Given the description of an element on the screen output the (x, y) to click on. 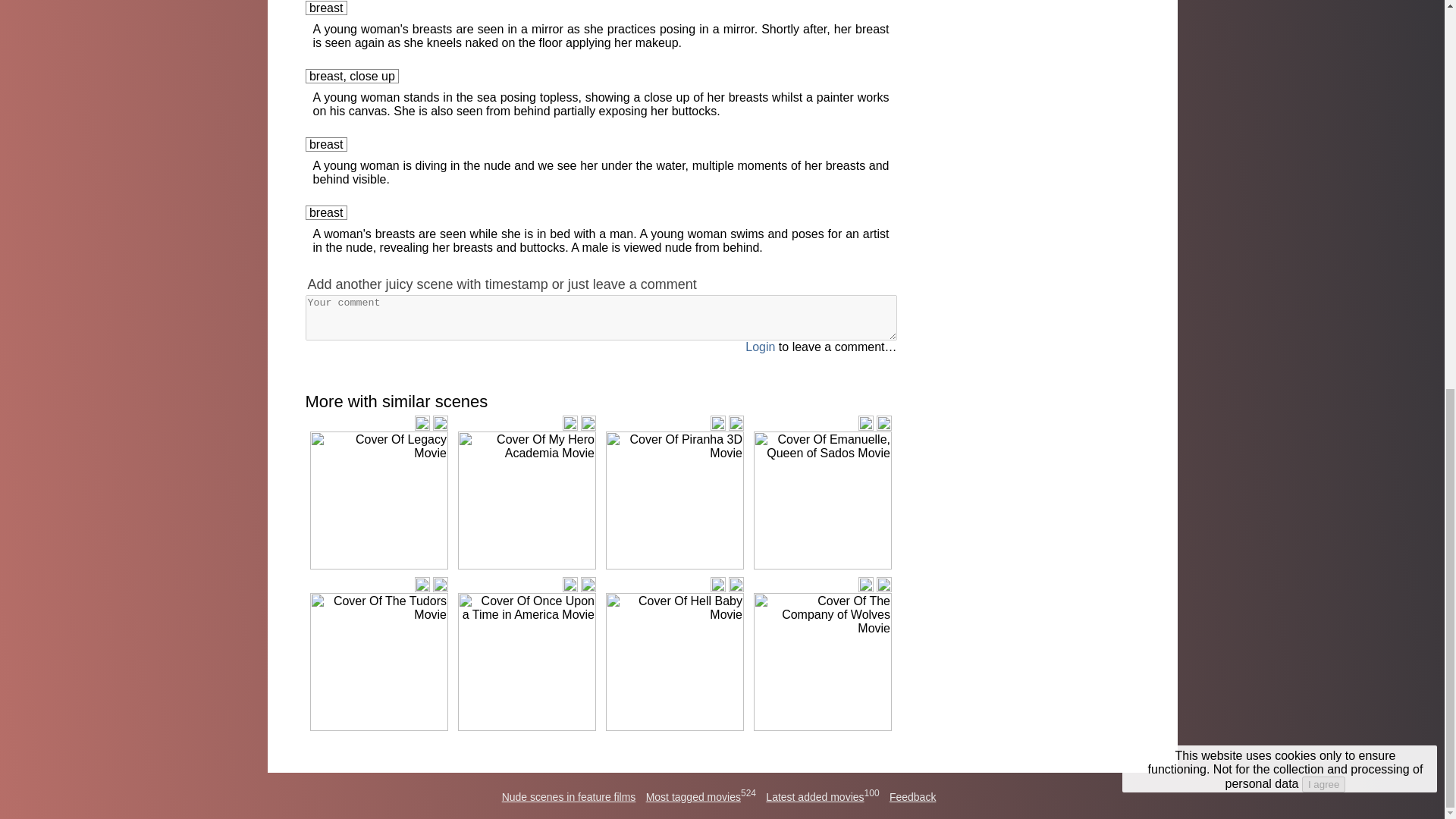
Add To The Watchlist (570, 584)
Mark as 'Viewed' (587, 422)
Add To The Watchlist (421, 584)
Mark as 'Viewed' (883, 422)
Mark as 'Viewed' (883, 584)
Mark as 'Viewed' (440, 584)
Add To The Watchlist (421, 422)
Mark as 'Viewed' (736, 422)
Login (759, 346)
Add To The Watchlist (866, 422)
